Given the description of an element on the screen output the (x, y) to click on. 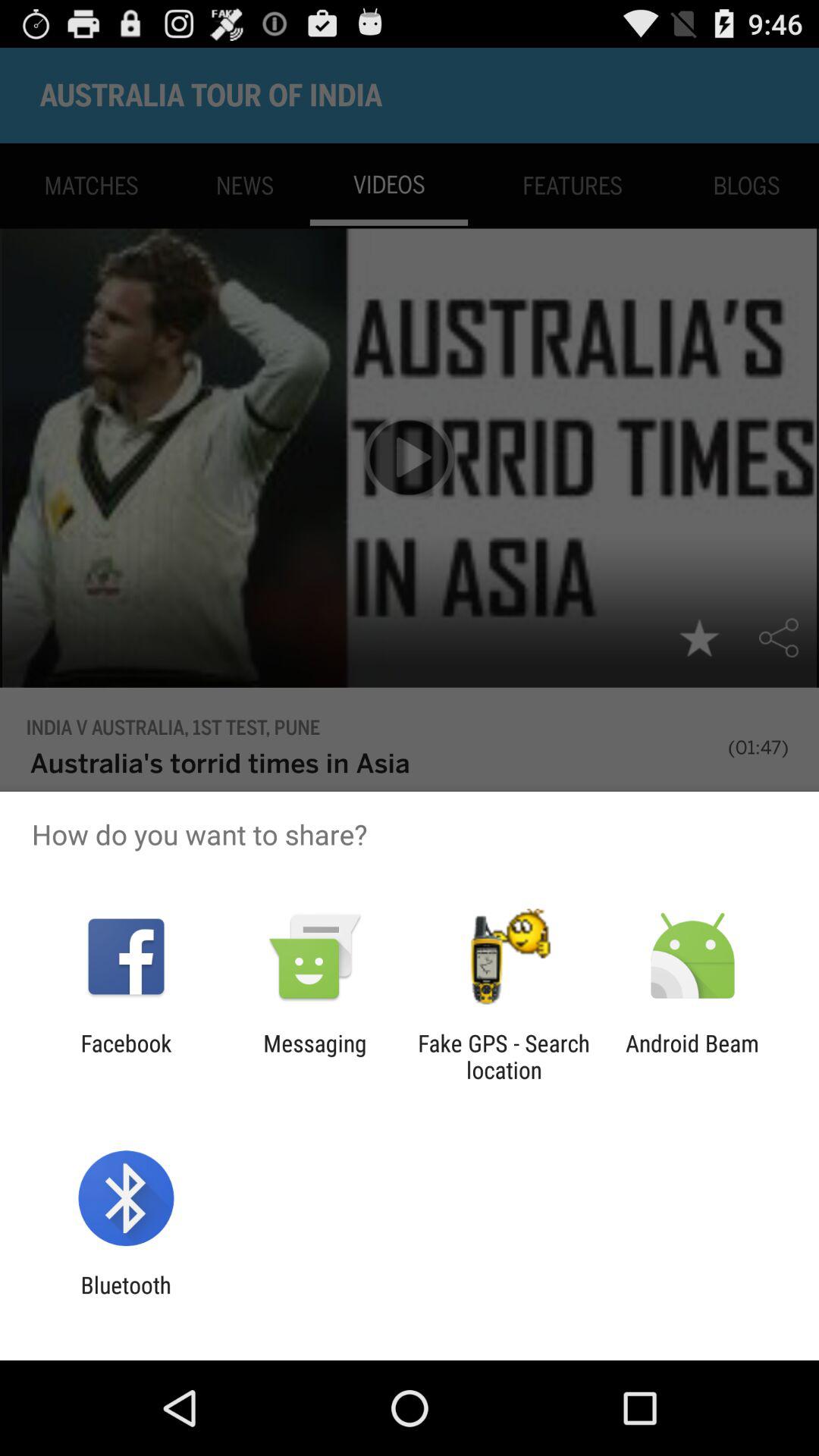
turn on the item next to the facebook item (314, 1056)
